Given the description of an element on the screen output the (x, y) to click on. 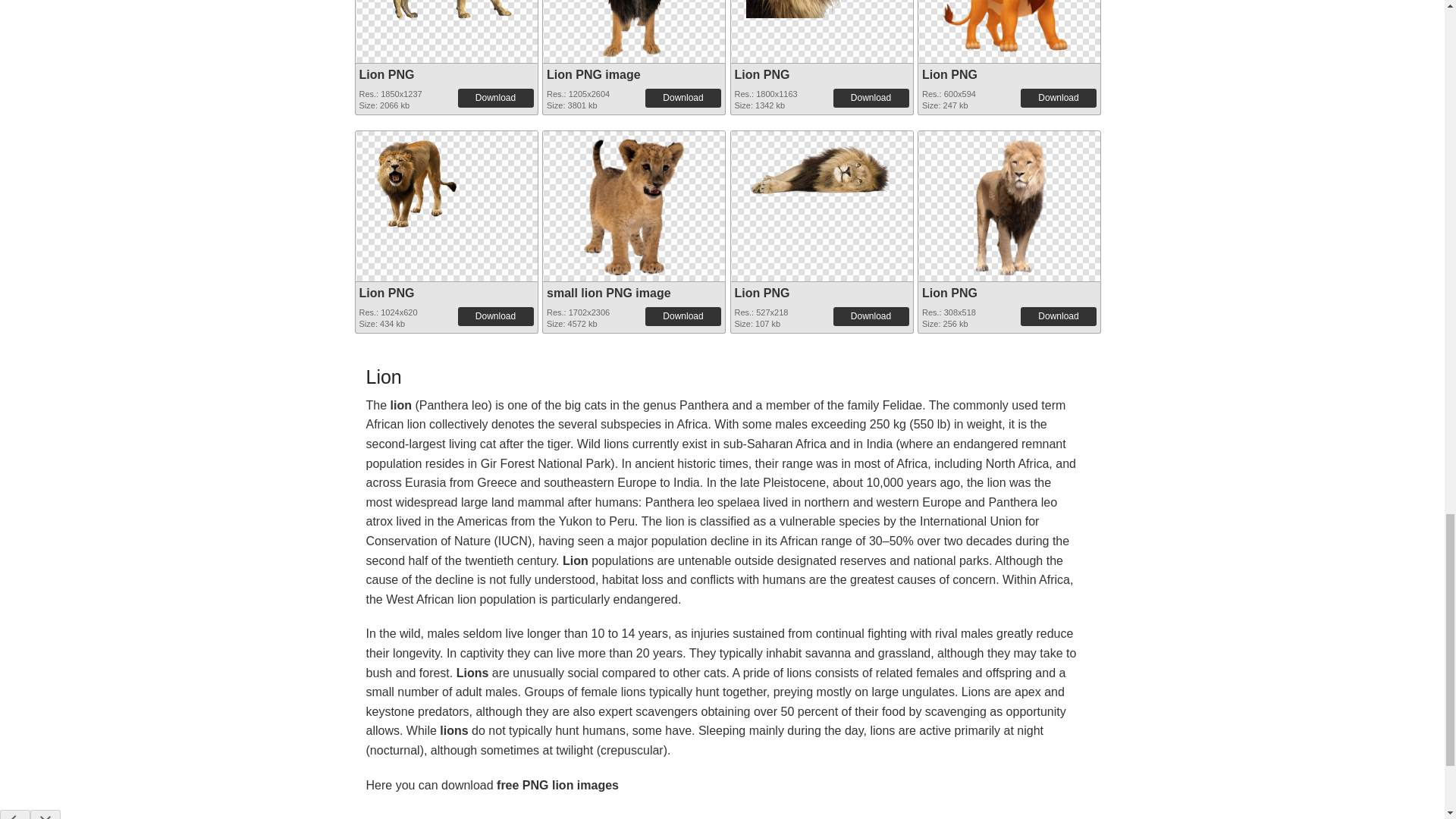
Download (870, 97)
Lion PNG image (593, 74)
Lion PNG (386, 74)
Lion PNG (948, 74)
Lion PNG (761, 74)
Download (496, 97)
Lion PNG (821, 9)
Lion PNG (445, 10)
Download (682, 97)
Lion PNG image (633, 28)
Download (1058, 97)
